Given the description of an element on the screen output the (x, y) to click on. 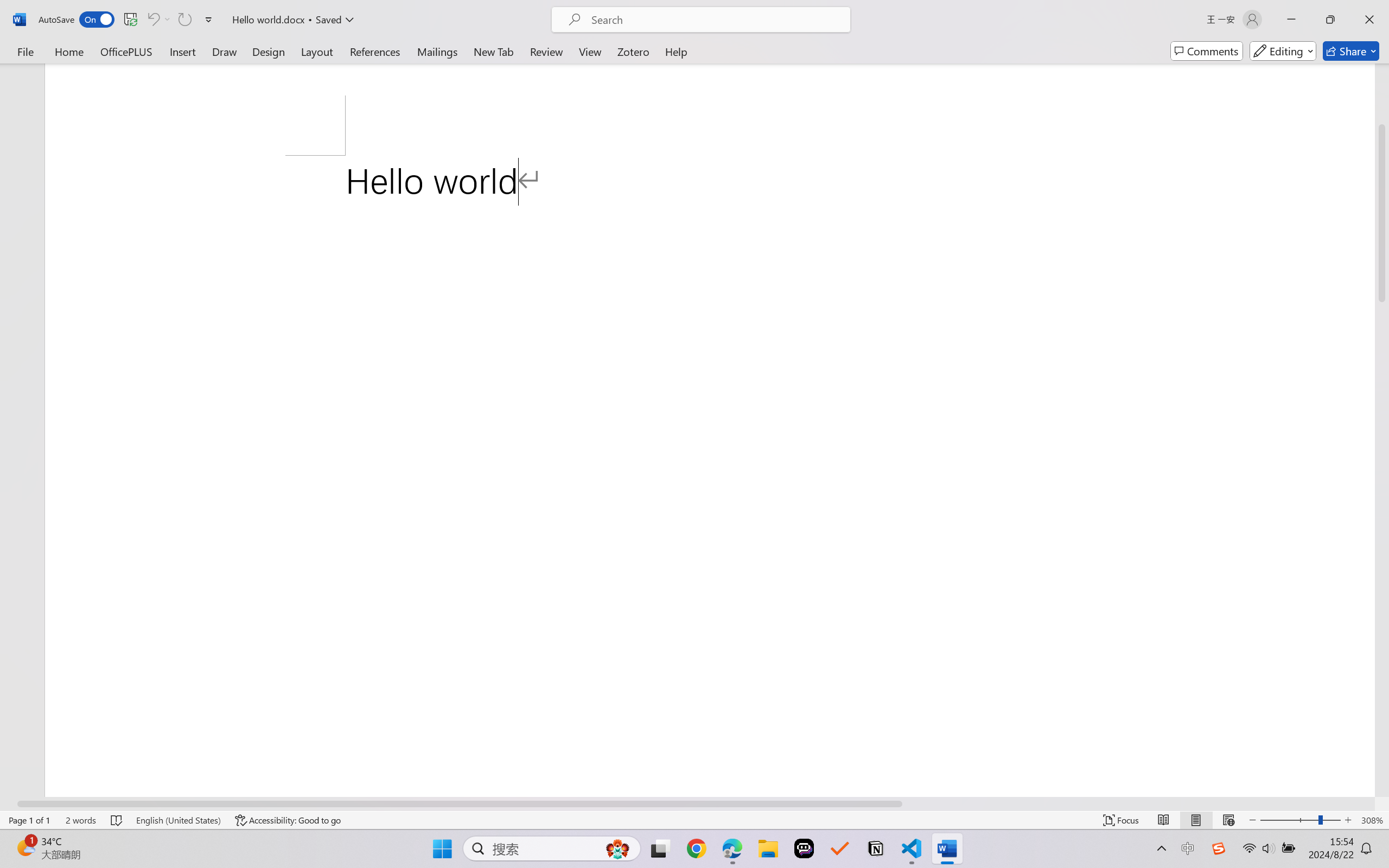
Print Layout (1196, 819)
Can't Undo (158, 19)
Mode (1283, 50)
AutomationID: DynamicSearchBoxGleamImage (617, 848)
Microsoft search (715, 19)
Quick Access Toolbar (127, 19)
File Tab (24, 51)
Web Layout (1228, 819)
Zoom (1300, 819)
More Options (167, 19)
Language English (United States) (178, 819)
Zoom Out (1288, 819)
Draw (224, 51)
